Given the description of an element on the screen output the (x, y) to click on. 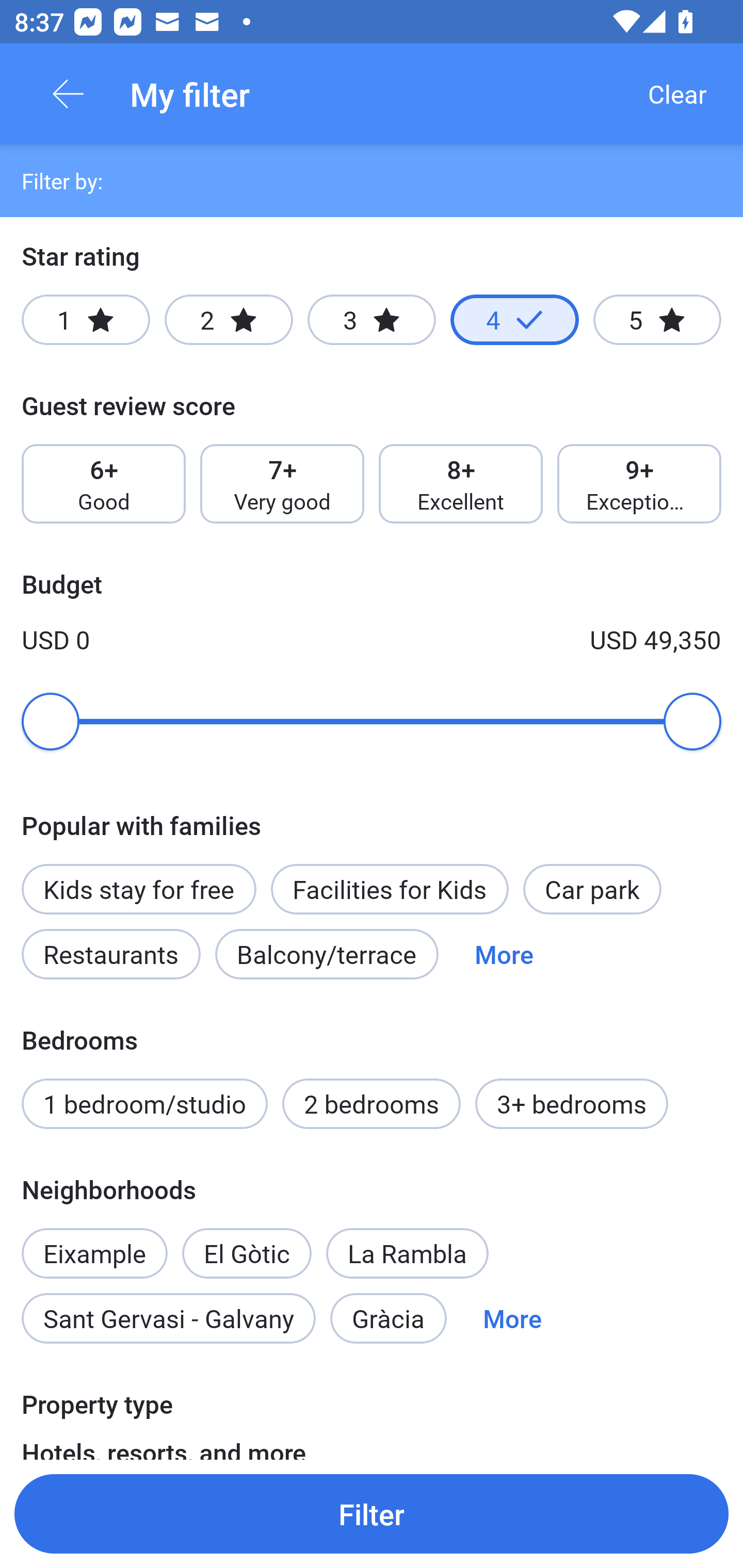
Clear (676, 93)
1 (85, 319)
2 (228, 319)
3 (371, 319)
5 (657, 319)
6+ Good (103, 483)
7+ Very good (281, 483)
8+ Excellent (460, 483)
9+ Exceptional (639, 483)
Kids stay for free (138, 888)
Facilities for Kids (389, 888)
Car park (592, 888)
Restaurants (110, 954)
Balcony/terrace (326, 954)
More (504, 954)
1 bedroom/studio (144, 1103)
2 bedrooms (371, 1103)
3+ bedrooms (571, 1103)
Eixample (94, 1242)
El Gòtic (246, 1242)
La Rambla (407, 1253)
Sant Gervasi - Galvany (168, 1317)
Gràcia (387, 1317)
More (512, 1317)
Filter (371, 1513)
